Given the description of an element on the screen output the (x, y) to click on. 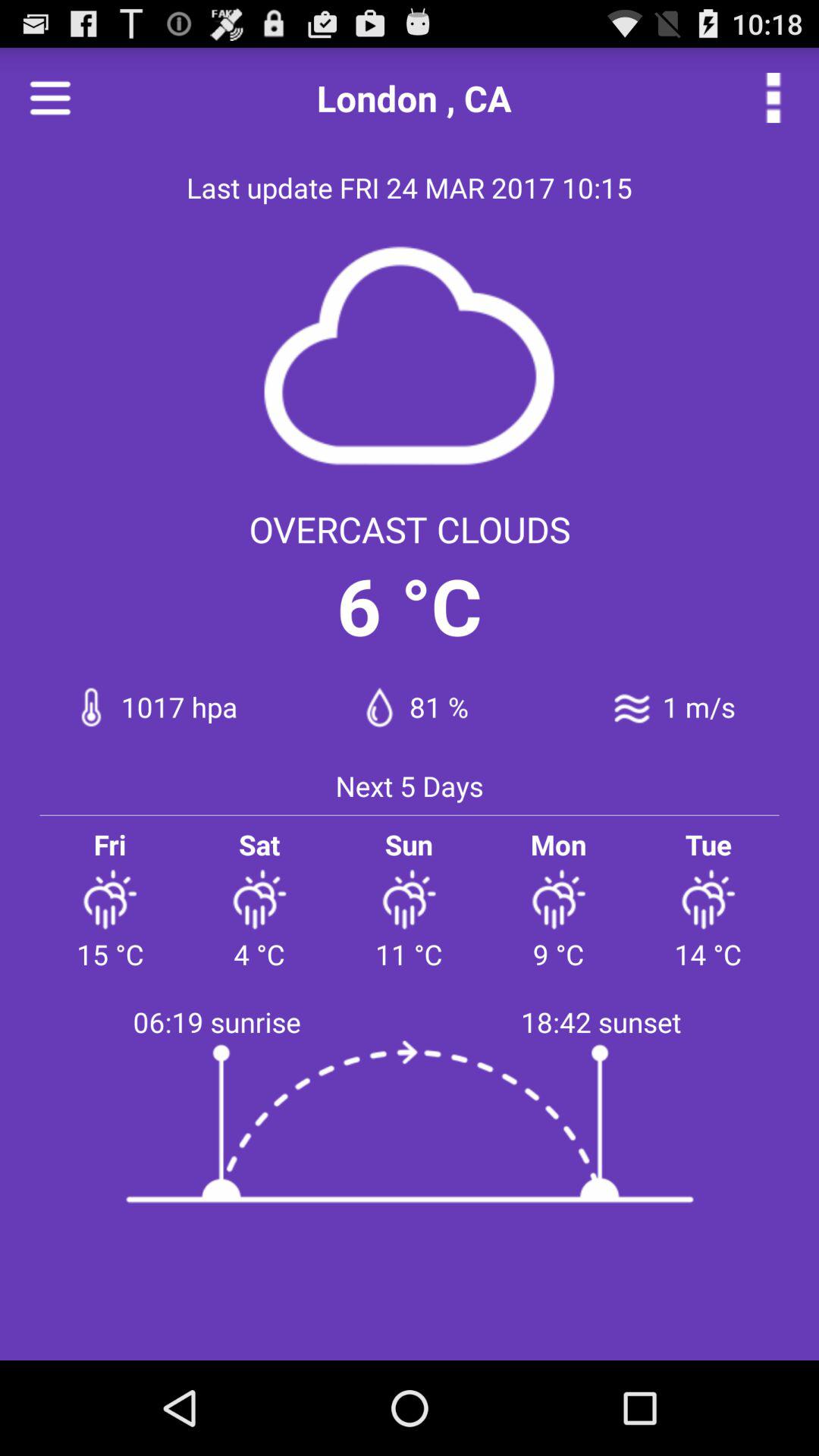
click on the drop icon (379, 706)
select the option beside the london ca (773, 97)
